Given the description of an element on the screen output the (x, y) to click on. 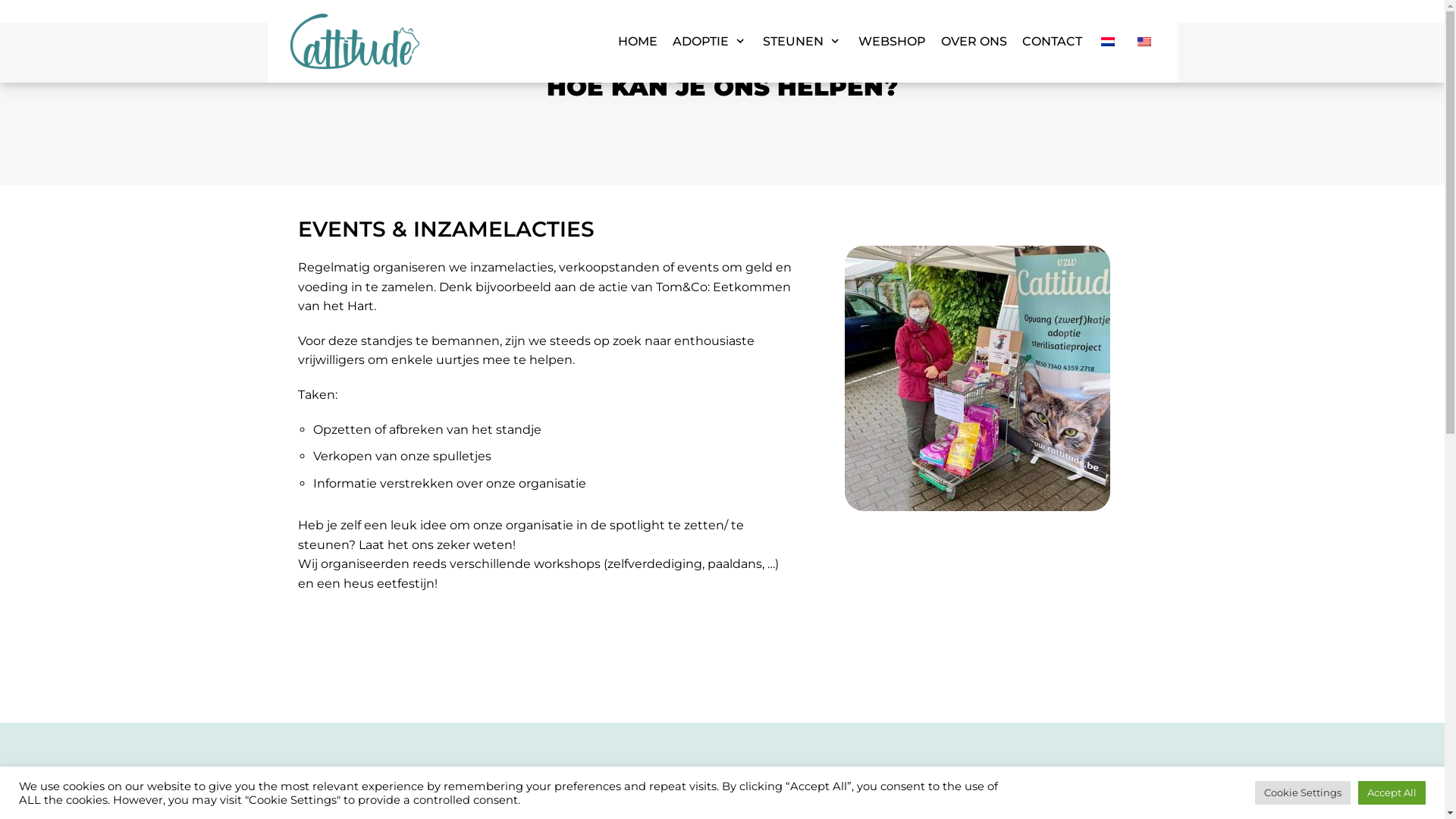
WEBSHOP Element type: text (891, 41)
CONTACT Element type: text (1052, 41)
ADOPTIE Element type: text (709, 41)
Dutch Element type: hover (1107, 41)
Cookie Settings Element type: text (1302, 792)
120749261_4474500432620586_4996014659908067419_n Element type: hover (977, 378)
OVER ONS Element type: text (973, 41)
STEUNEN Element type: text (802, 41)
HOME Element type: text (637, 41)
Meteen naar de inhoud Element type: text (15, 31)
English Element type: hover (1144, 41)
Accept All Element type: text (1391, 792)
